Given the description of an element on the screen output the (x, y) to click on. 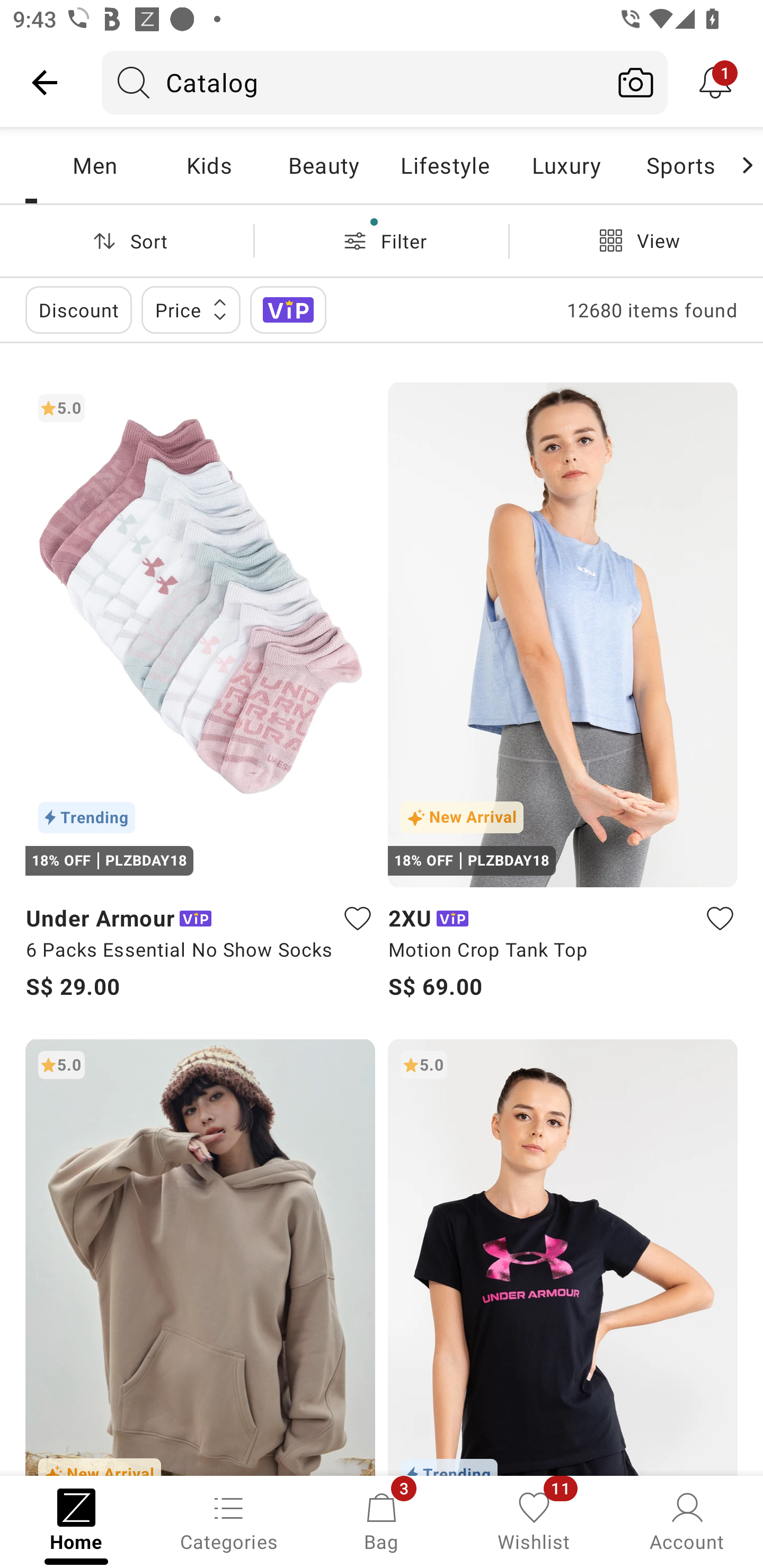
Navigate up (44, 82)
Catalog (352, 82)
Men (94, 165)
Kids (208, 165)
Beauty (323, 165)
Lifestyle (444, 165)
Luxury (565, 165)
Sports (680, 165)
Sort (126, 240)
Filter (381, 240)
View (636, 240)
Discount (78, 309)
Price (190, 309)
5.0 New Arrival (200, 1256)
5.0 Trending (562, 1256)
Categories (228, 1519)
Bag, 3 new notifications Bag (381, 1519)
Wishlist, 11 new notifications Wishlist (533, 1519)
Account (686, 1519)
